Given the description of an element on the screen output the (x, y) to click on. 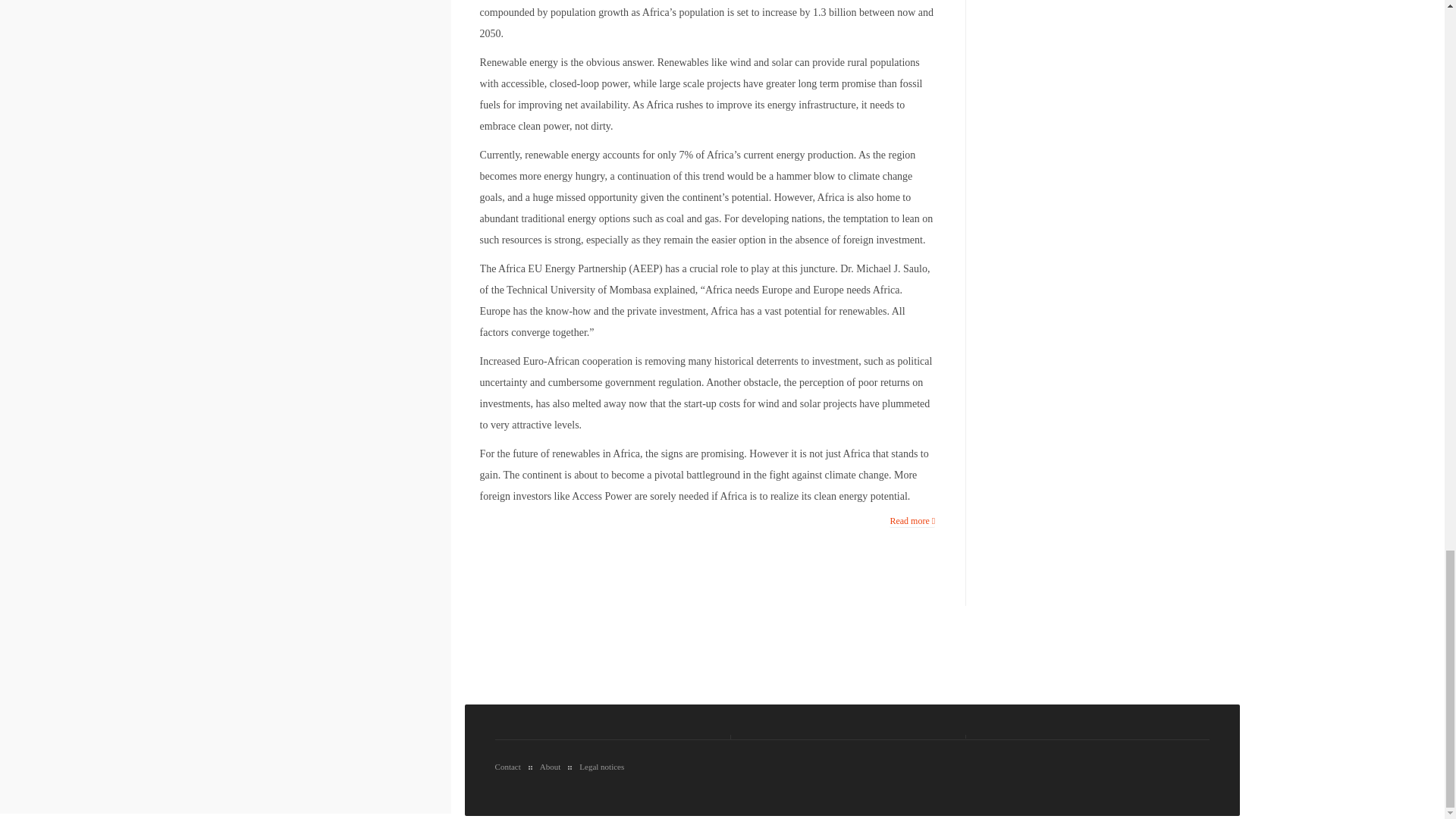
Contact (511, 766)
Legal notices (599, 766)
About (548, 766)
Read more (911, 521)
